Given the description of an element on the screen output the (x, y) to click on. 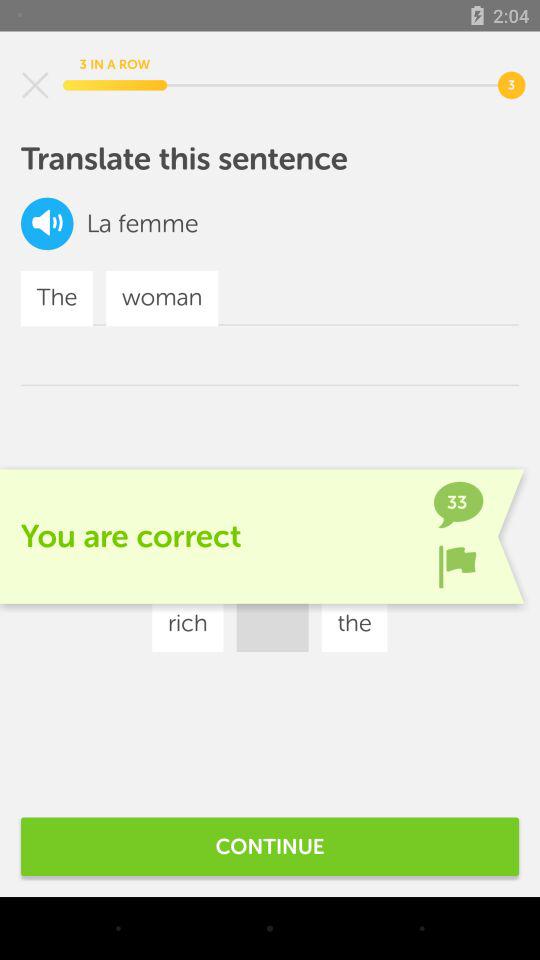
click rich (187, 624)
